Given the description of an element on the screen output the (x, y) to click on. 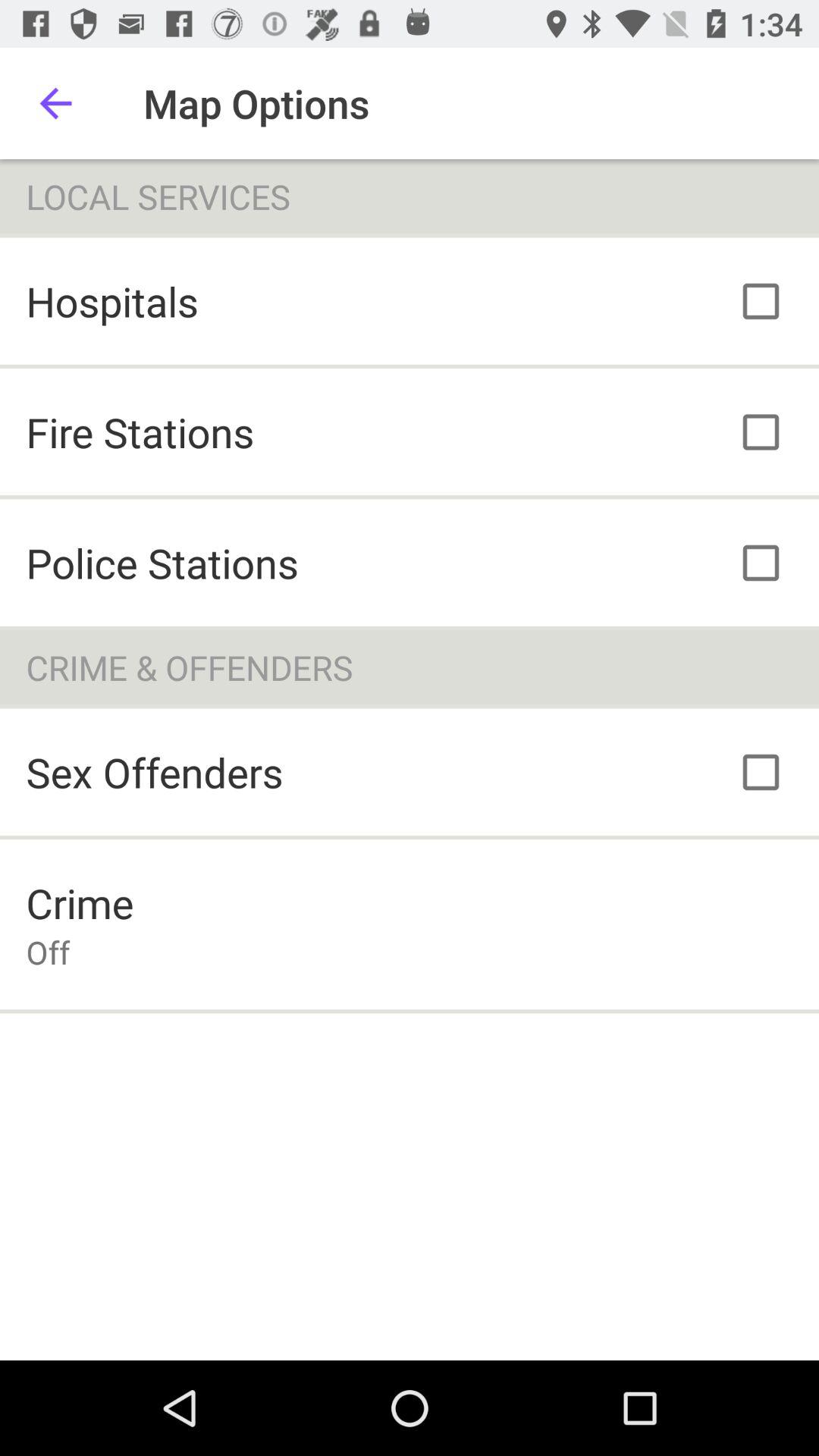
flip until sex offenders icon (154, 771)
